Given the description of an element on the screen output the (x, y) to click on. 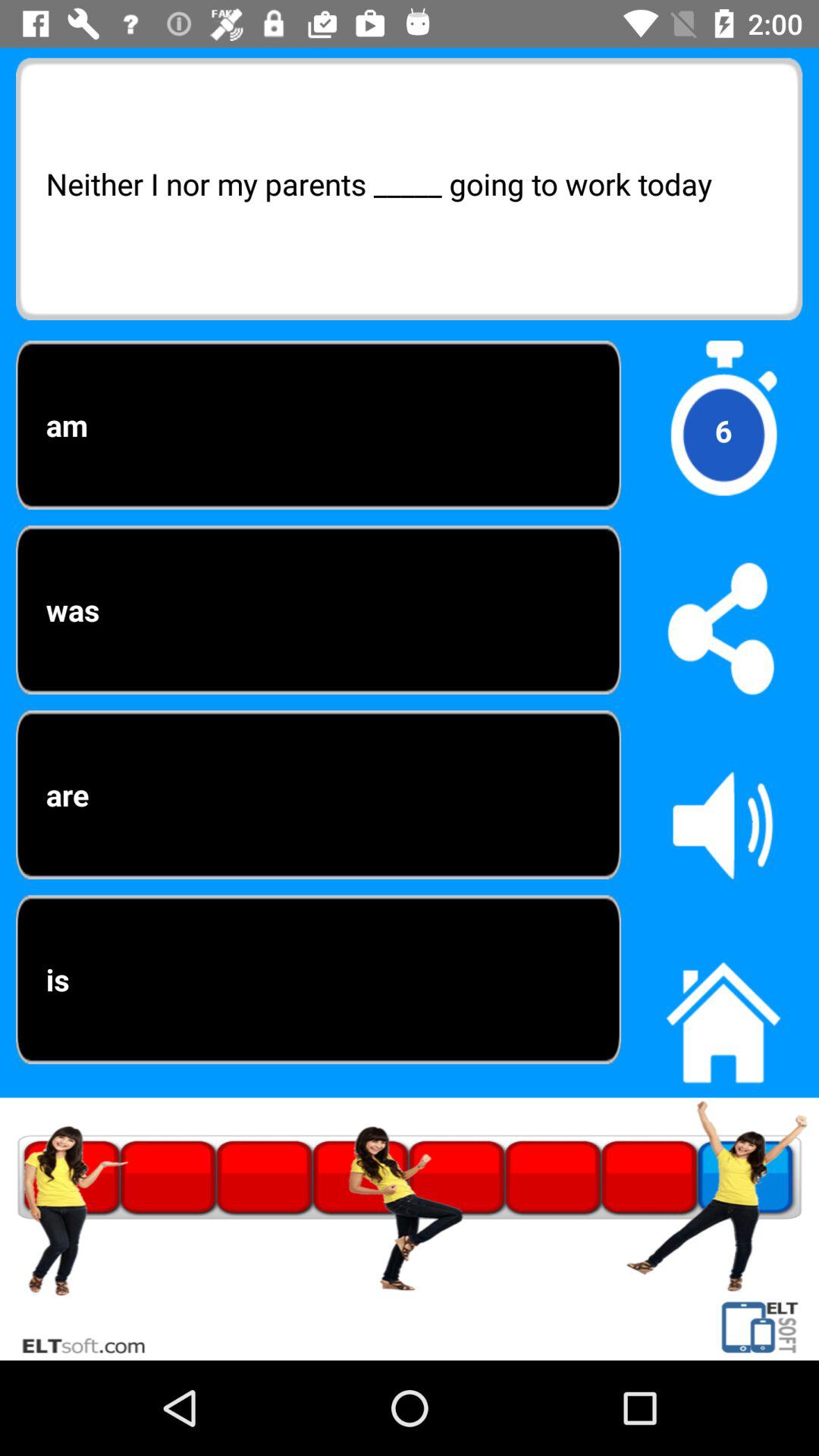
jump to is icon (318, 979)
